Given the description of an element on the screen output the (x, y) to click on. 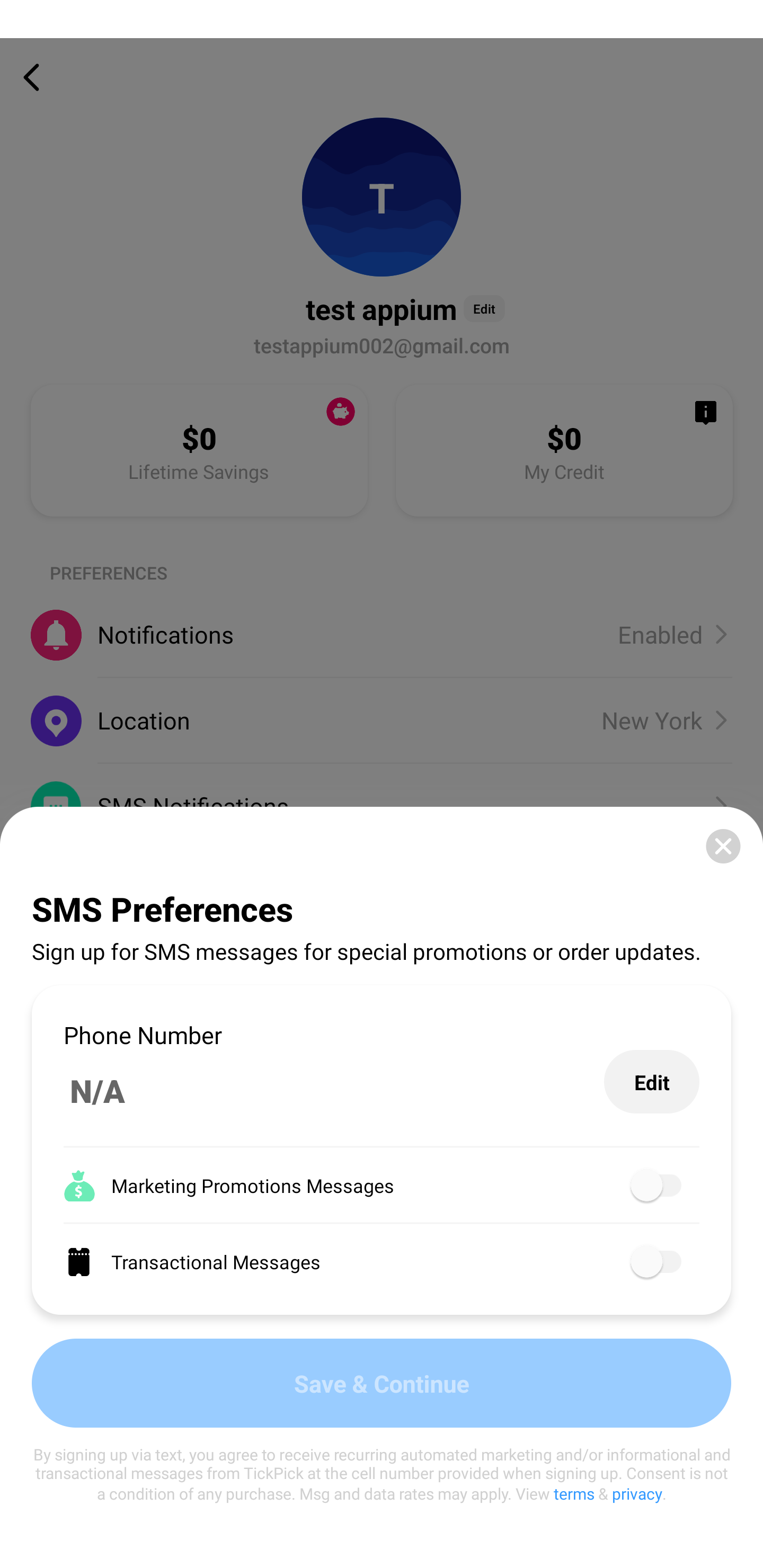
Edit (651, 1081)
N/A (333, 1091)
Save & Continue (381, 1382)
